Given the description of an element on the screen output the (x, y) to click on. 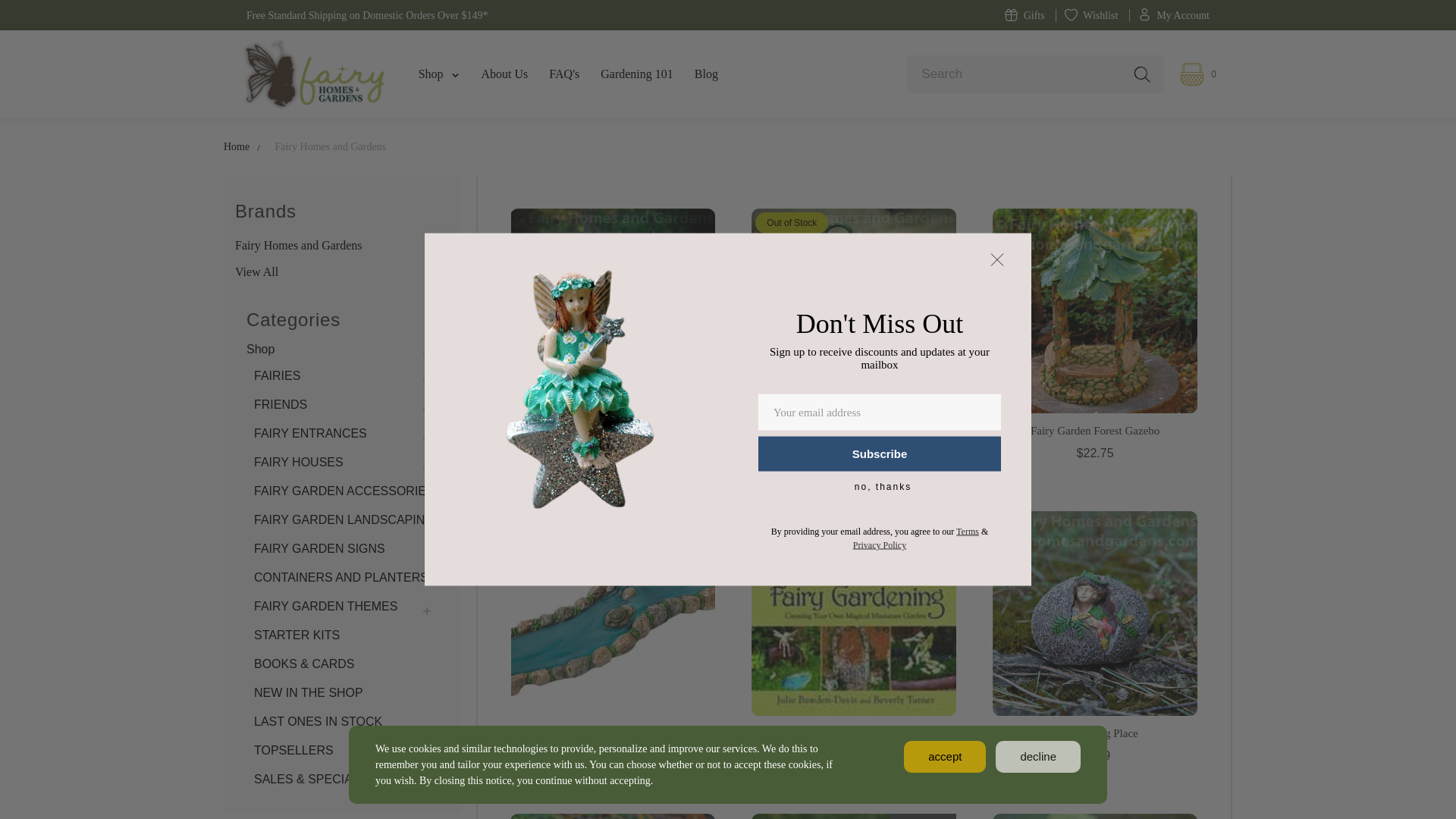
Fishing Dock for Fairy Gardens (1094, 816)
Fairy Garden Clothesline  (612, 310)
Fairy Homes and Gardens (311, 73)
My Account (1173, 15)
Fairy Kid on Bouncy Ball (853, 816)
Straight Section of Fairy Garden Stream (612, 613)
Fairy Itty Bitty Betty In Tiny Chair (612, 816)
Subscribe (879, 453)
Fairy Hiding Place (1094, 613)
Gifts (1024, 15)
Fairy Garden Flower Lamps (853, 310)
Wishlist (1091, 15)
Fairy Gardening Book (853, 613)
Fairy Garden Forest Gazebo (1094, 310)
